Given the description of an element on the screen output the (x, y) to click on. 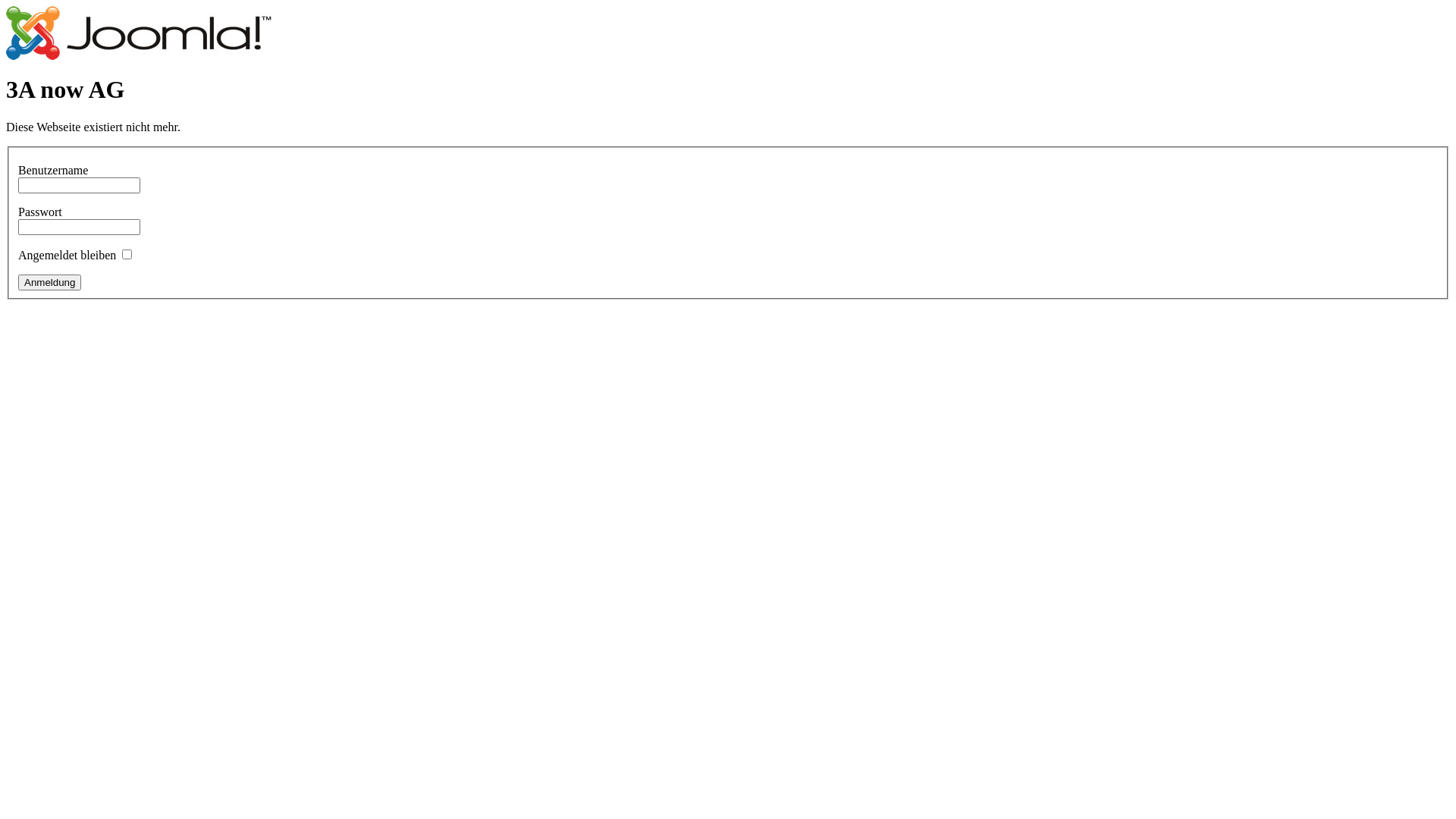
Anmeldung Element type: text (49, 282)
